Given the description of an element on the screen output the (x, y) to click on. 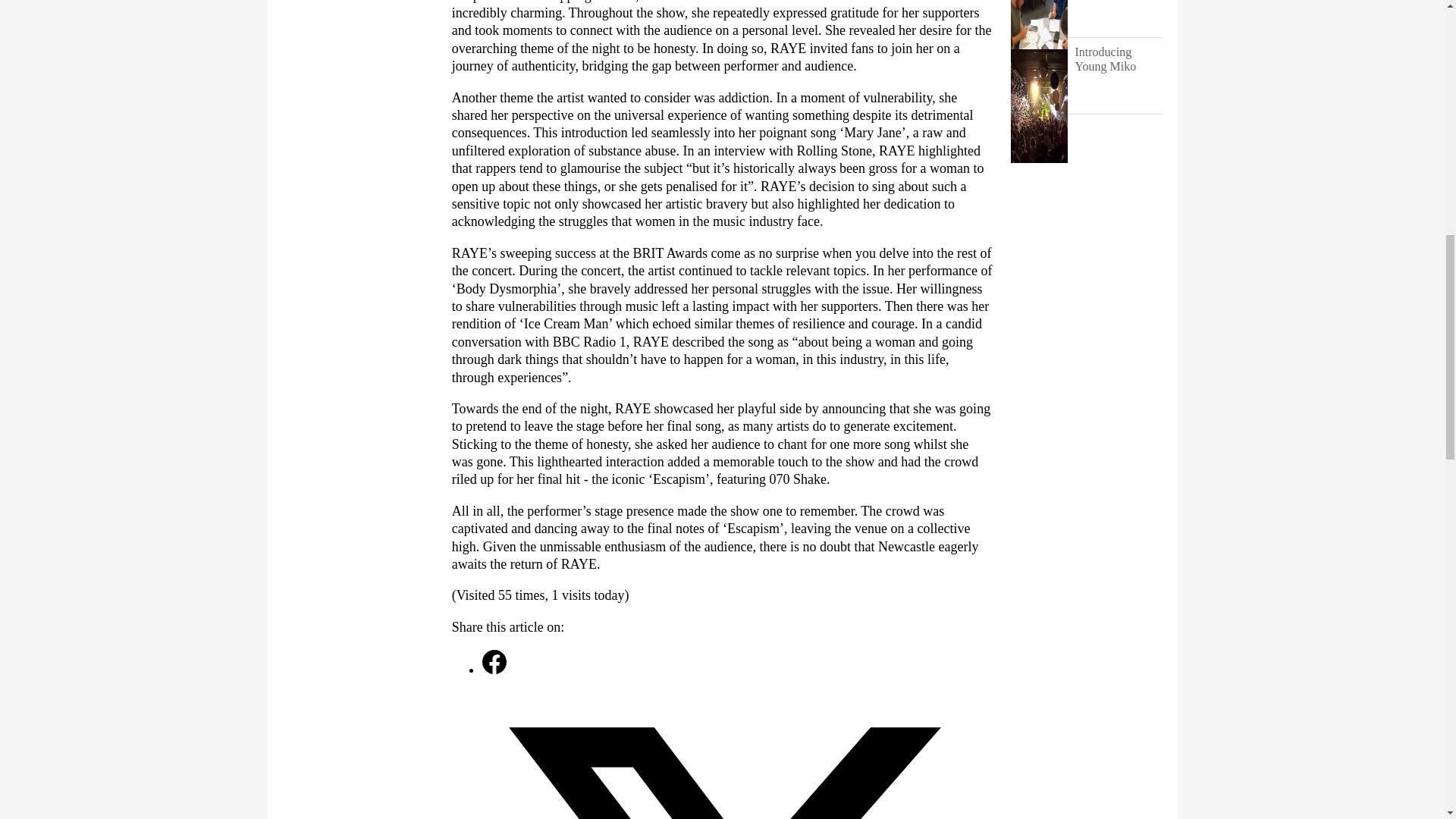
On a 'Bright Future' (1038, 6)
Your New Exam Season Playlist (1118, 14)
Your New Exam Season Playlist (1038, 82)
Introducing Young Miko (1118, 73)
Introducing Young Miko (1038, 158)
